Given the description of an element on the screen output the (x, y) to click on. 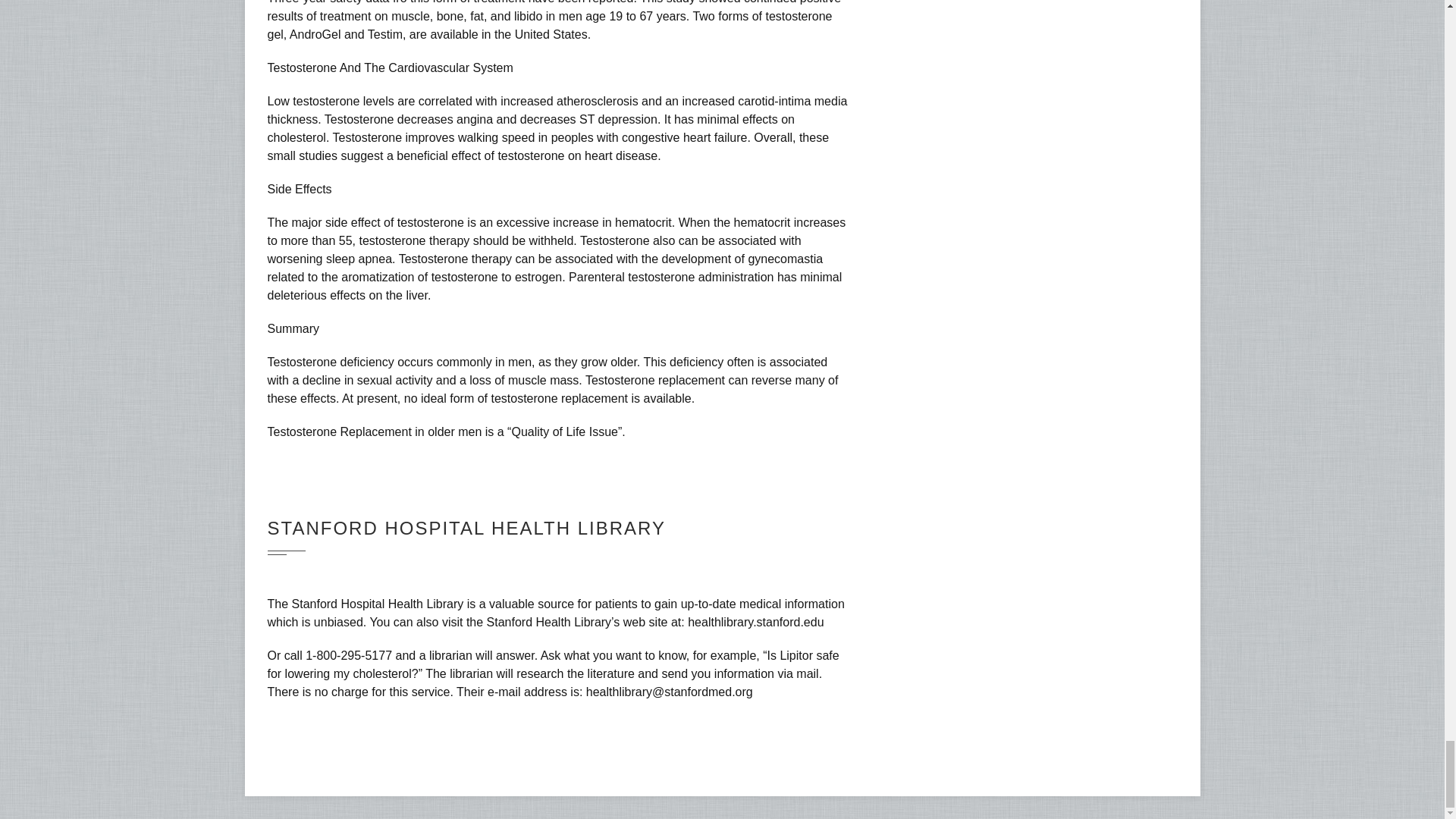
STANFORD HOSPITAL HEALTH LIBRARY (465, 527)
